Given the description of an element on the screen output the (x, y) to click on. 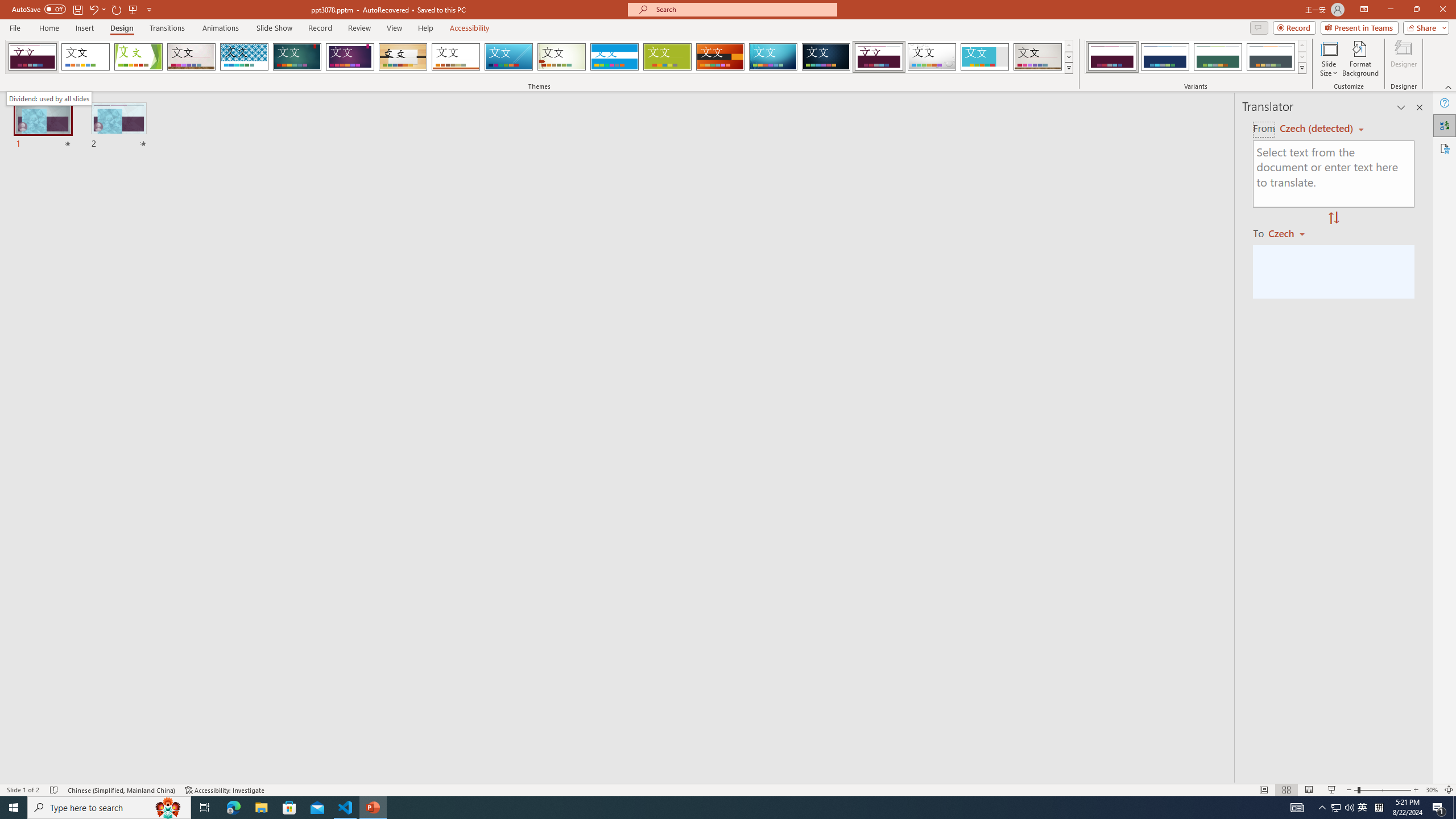
Gallery (1037, 56)
Format Background (1360, 58)
Slide Size (1328, 58)
Czech (detected) (1317, 128)
Dividend Variant 2 (1164, 56)
